Given the description of an element on the screen output the (x, y) to click on. 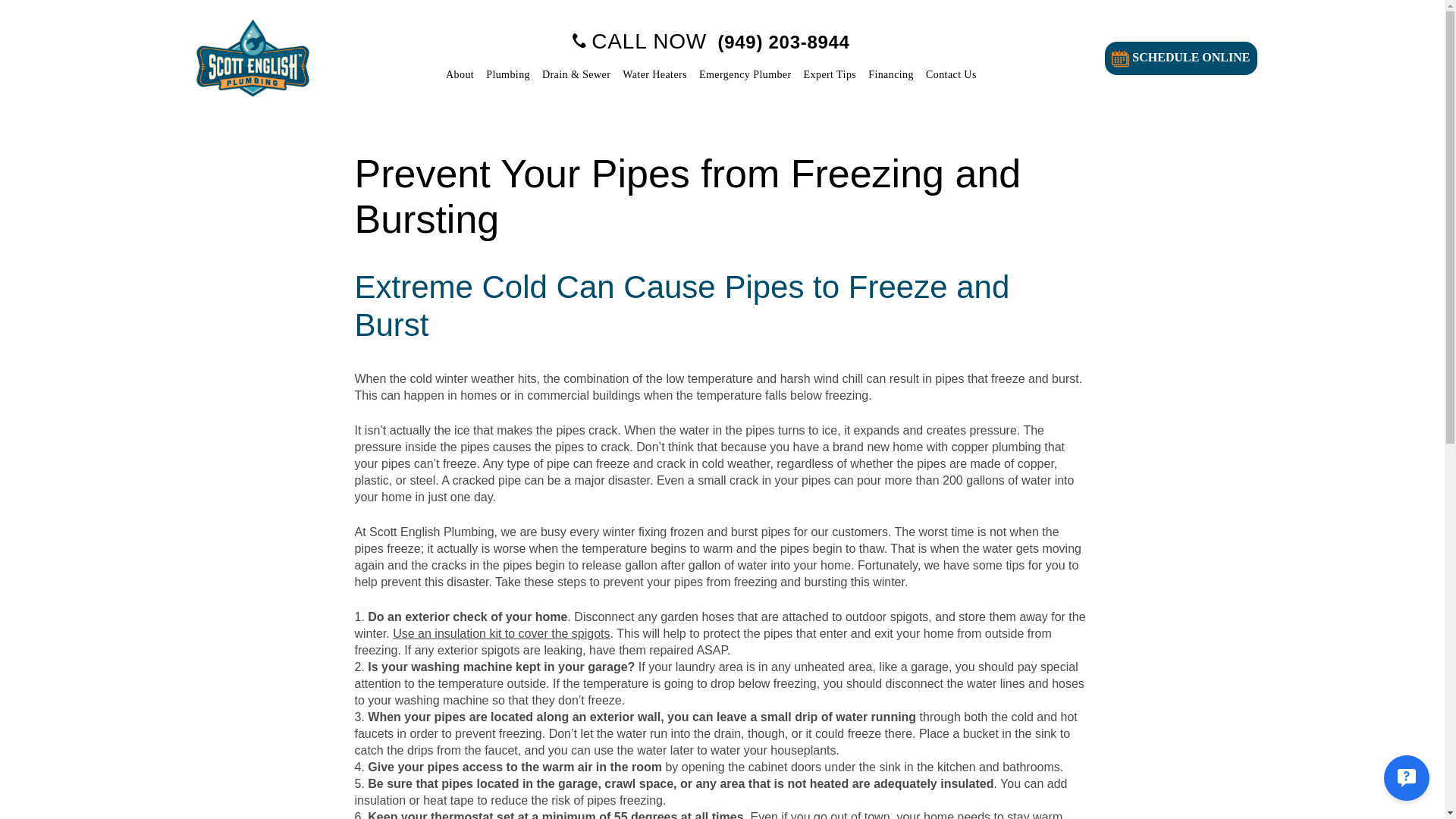
Water Heaters (654, 74)
Plumbing (507, 74)
Emergency Plumber (745, 74)
About (459, 74)
